Given the description of an element on the screen output the (x, y) to click on. 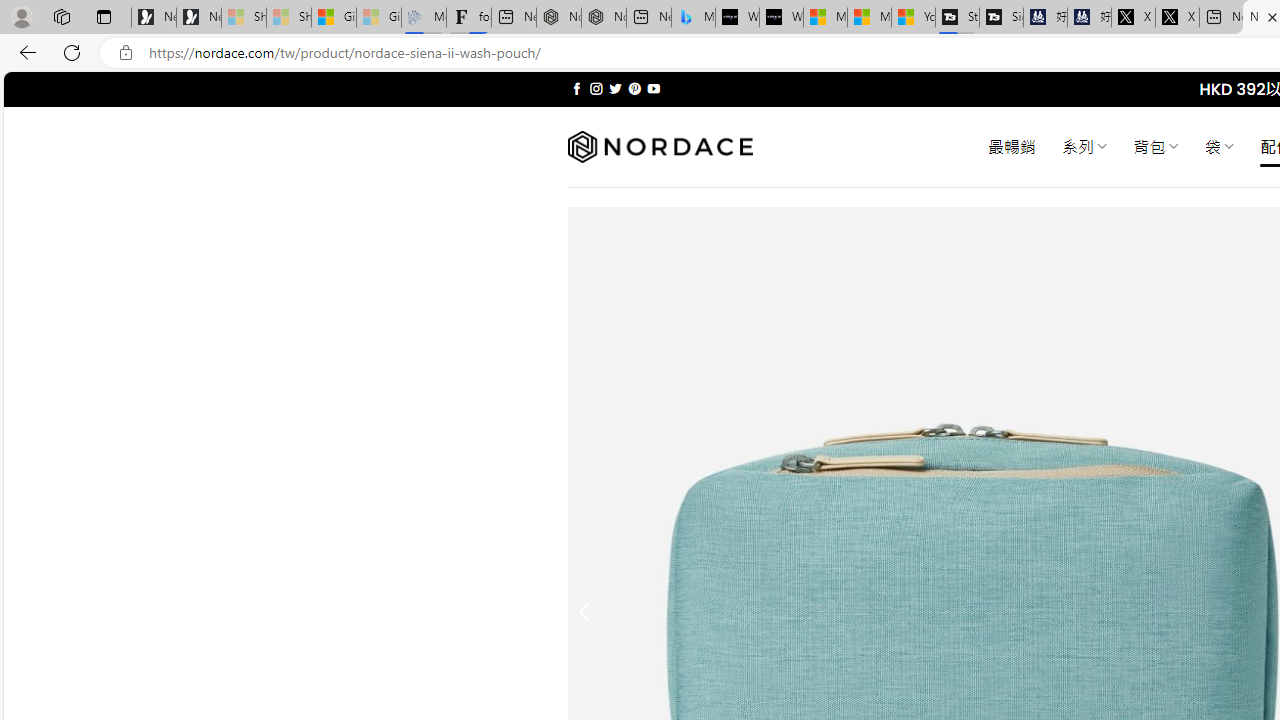
What's the best AI voice generator? - voice.ai (781, 17)
Follow on YouTube (653, 88)
Nordace - #1 Japanese Best-Seller - Siena Smart Backpack (603, 17)
Follow on Instagram (596, 88)
New tab (1220, 17)
Back (24, 52)
